Given the description of an element on the screen output the (x, y) to click on. 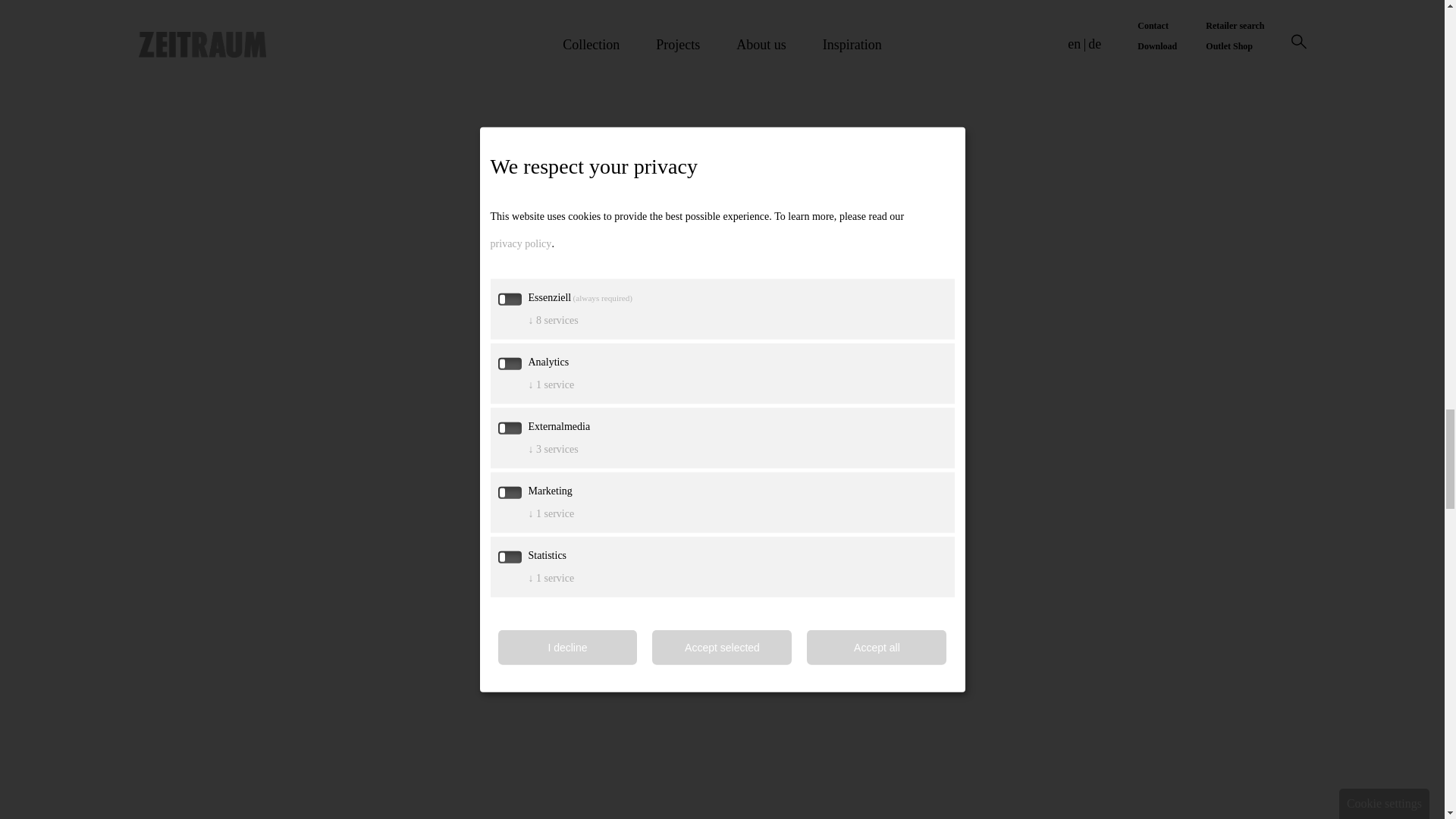
red-church-olomouc-photo-by-kubicek-studio-zeitraum-07 (1007, 684)
red-church-olomouc-photo-by-kubicek-studio-zeitraum-06 (436, 750)
